Given the description of an element on the screen output the (x, y) to click on. 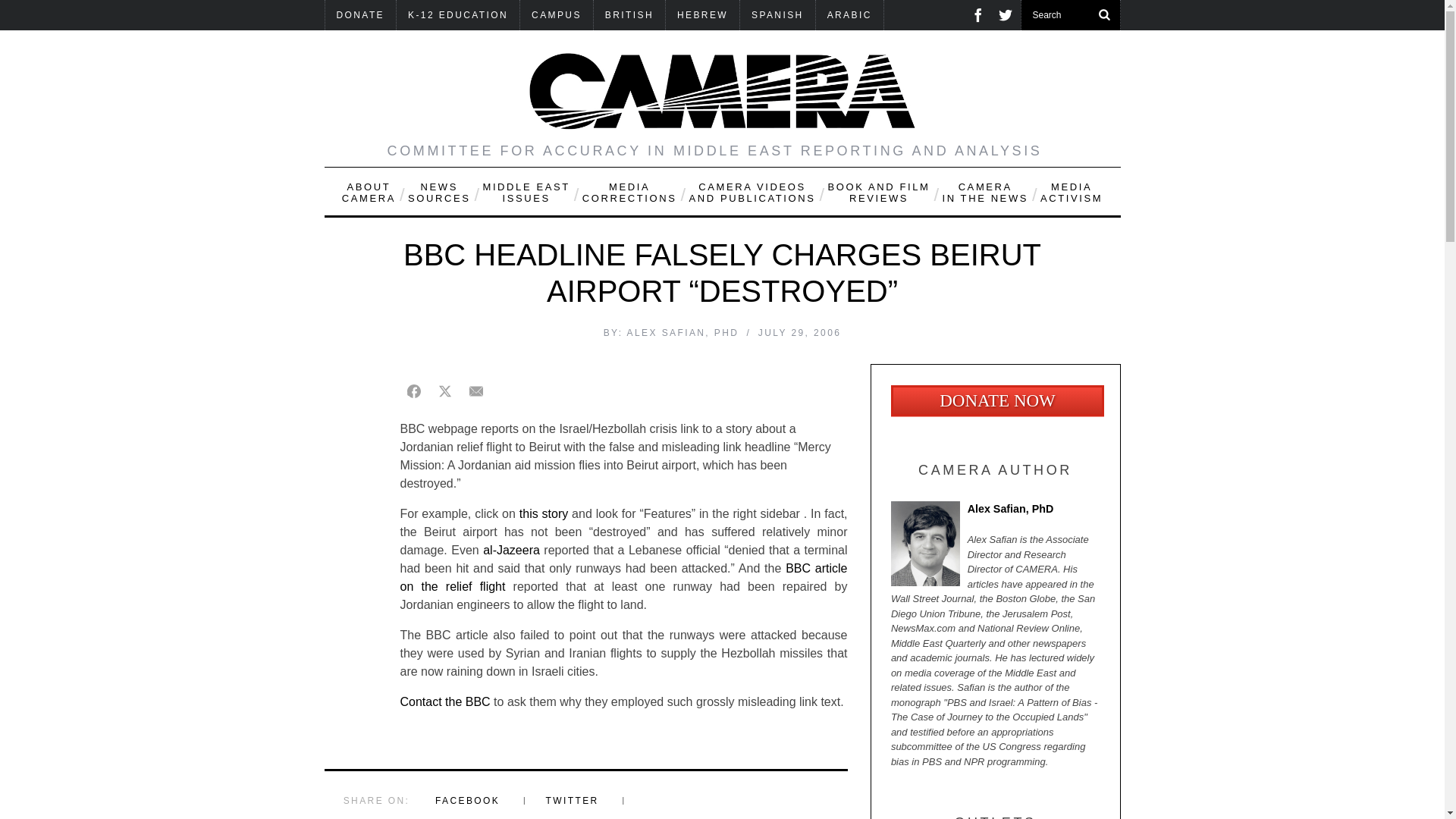
Book and Film Reviews (878, 191)
Alex Safian, PhD (995, 512)
Share on Twitter (444, 390)
Share on E-mail (476, 390)
Share on Facebook (414, 390)
Search (1070, 15)
